Given the description of an element on the screen output the (x, y) to click on. 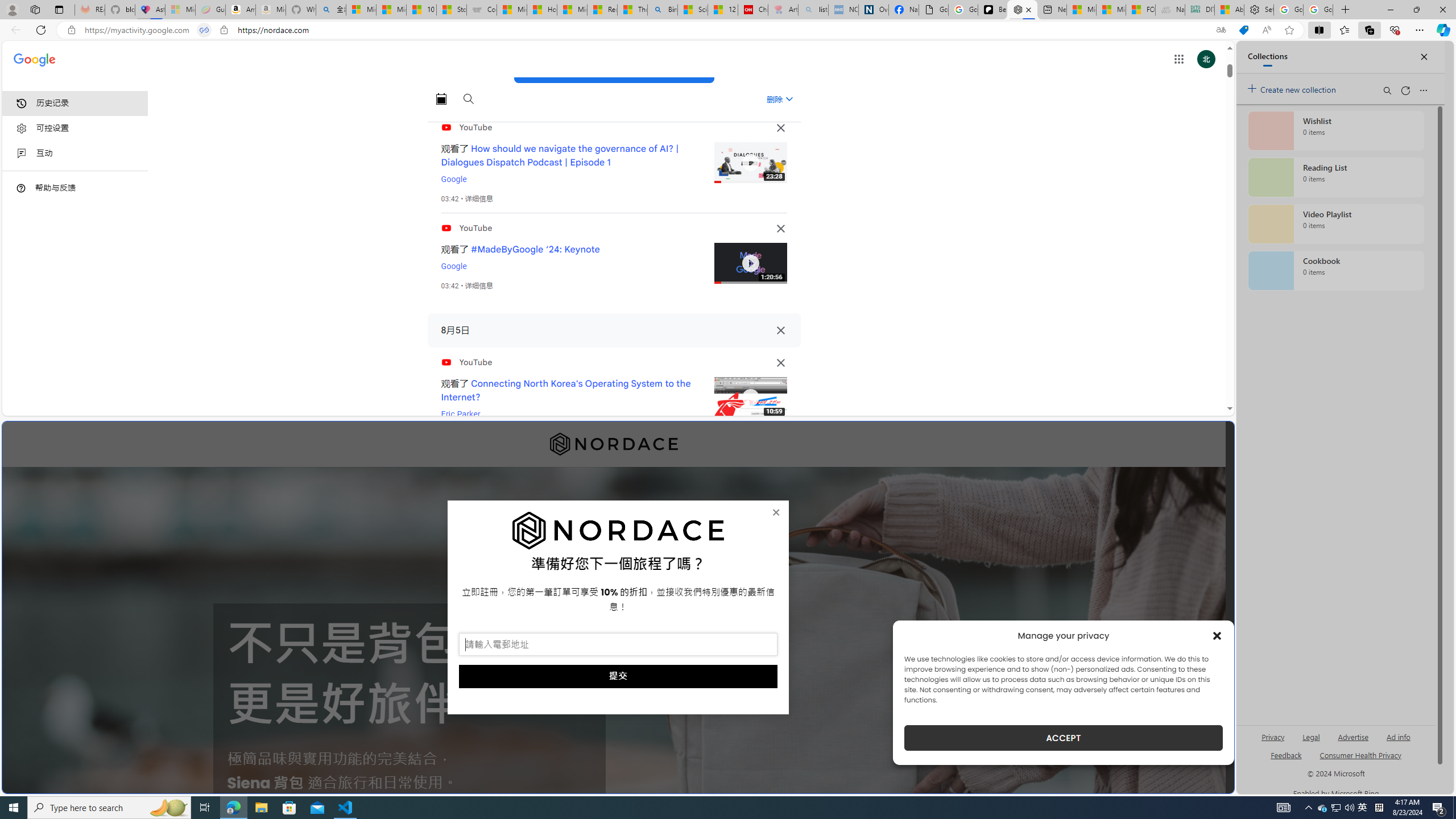
Class: gb_E (1178, 59)
